Given the description of an element on the screen output the (x, y) to click on. 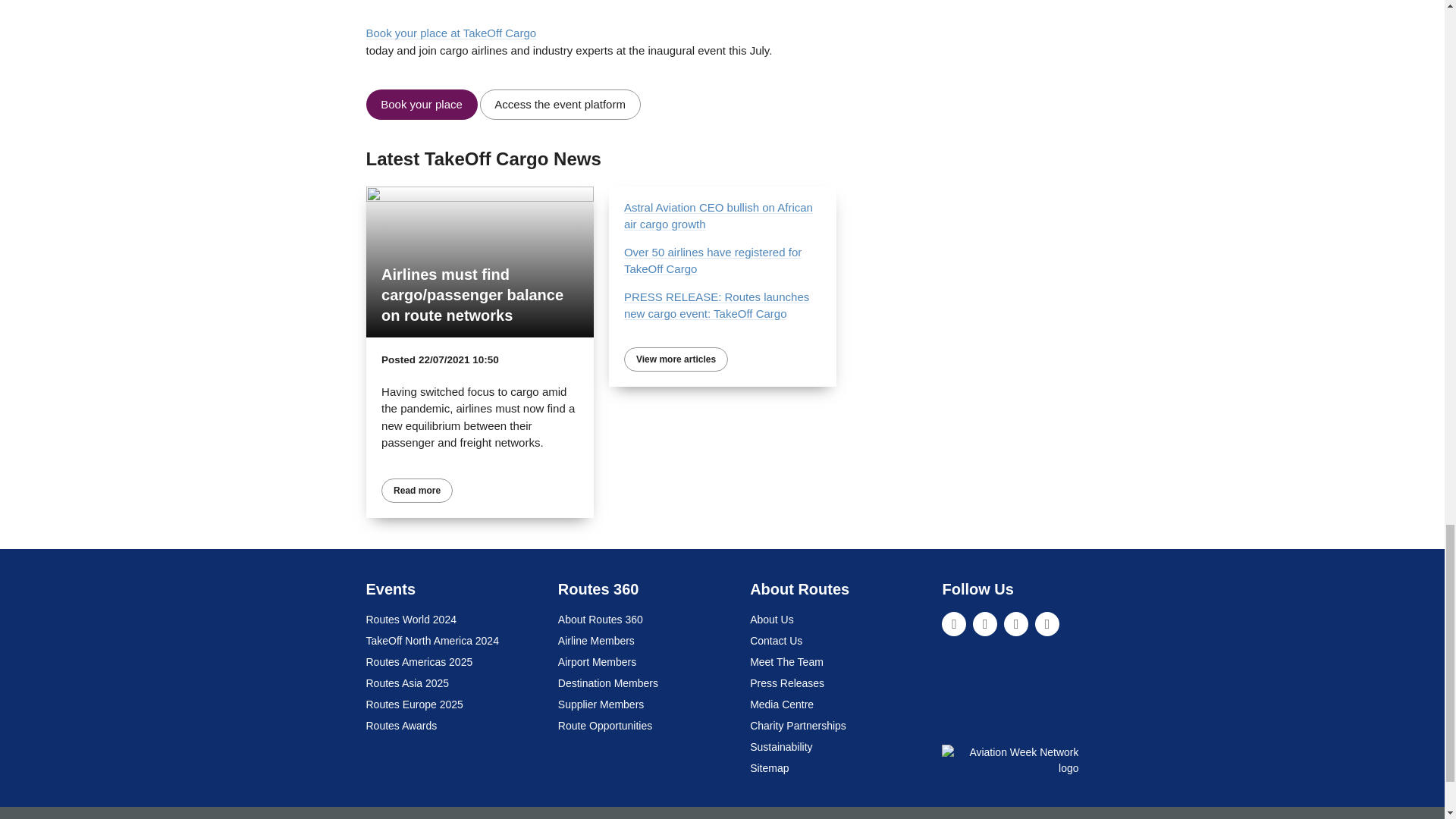
LinkedIn (954, 623)
YouTube (1047, 623)
Facebook (1015, 623)
